Given the description of an element on the screen output the (x, y) to click on. 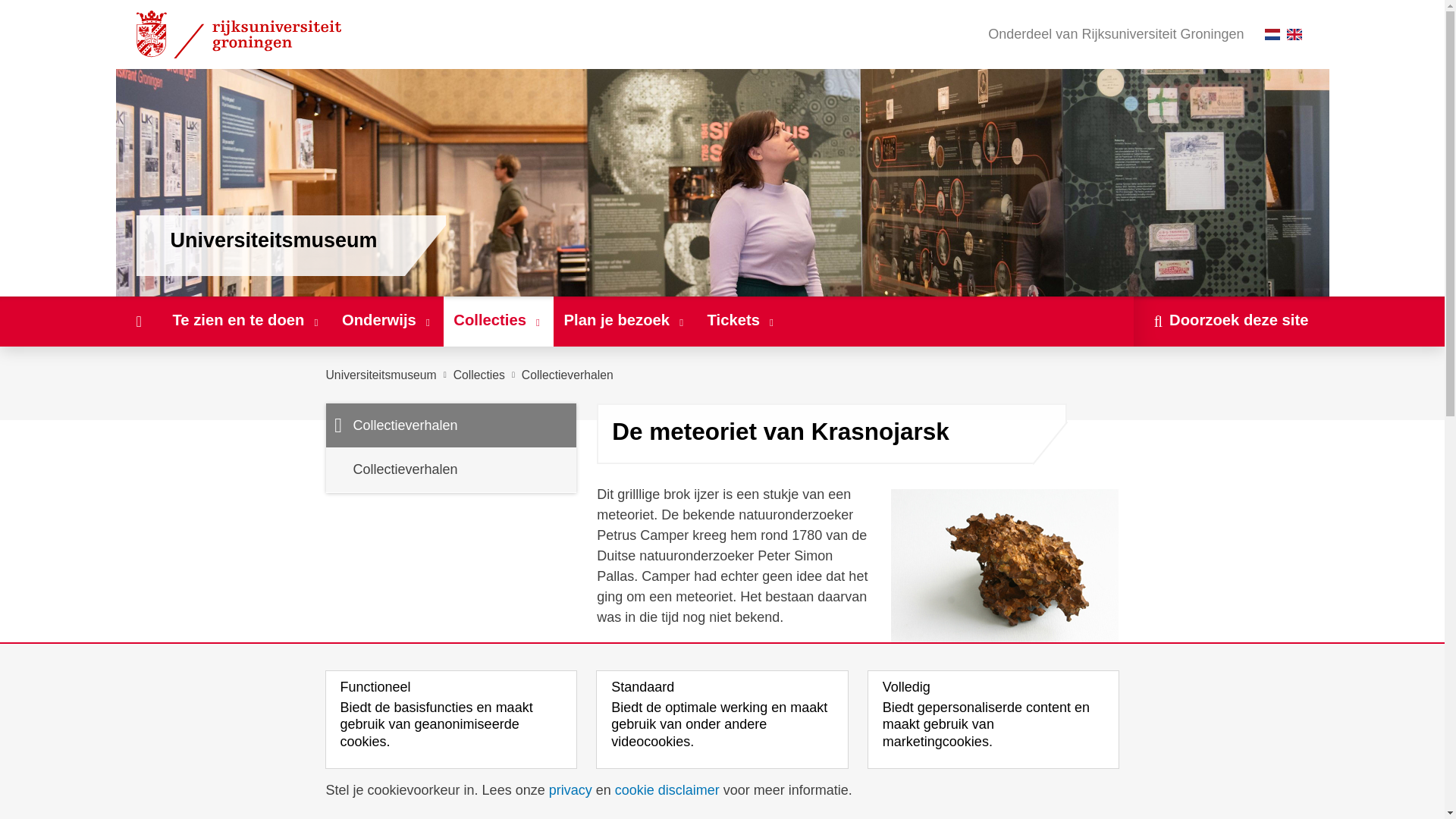
Home (138, 321)
Plan je bezoek (625, 321)
Taal selectie (1286, 34)
Universiteitsmuseum (381, 374)
Tickets (742, 321)
Te zien en te doen (246, 321)
Collecties (478, 374)
Collecties (498, 321)
Onderwijs (386, 321)
English (1293, 33)
Nederlands (1272, 33)
Doorzoek deze site (1231, 321)
